Given the description of an element on the screen output the (x, y) to click on. 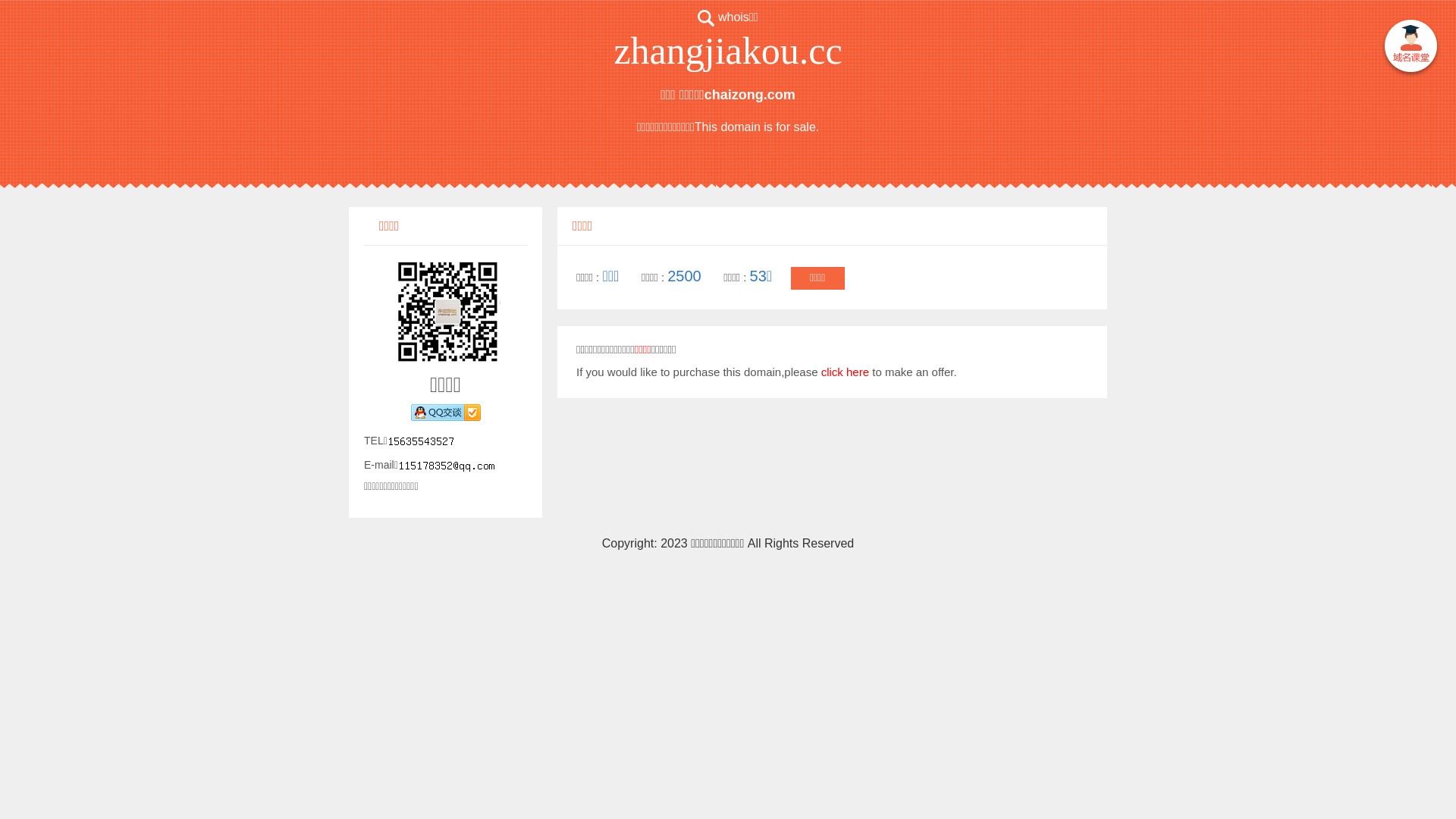
click here Element type: text (845, 371)
  Element type: text (1410, 48)
